Given the description of an element on the screen output the (x, y) to click on. 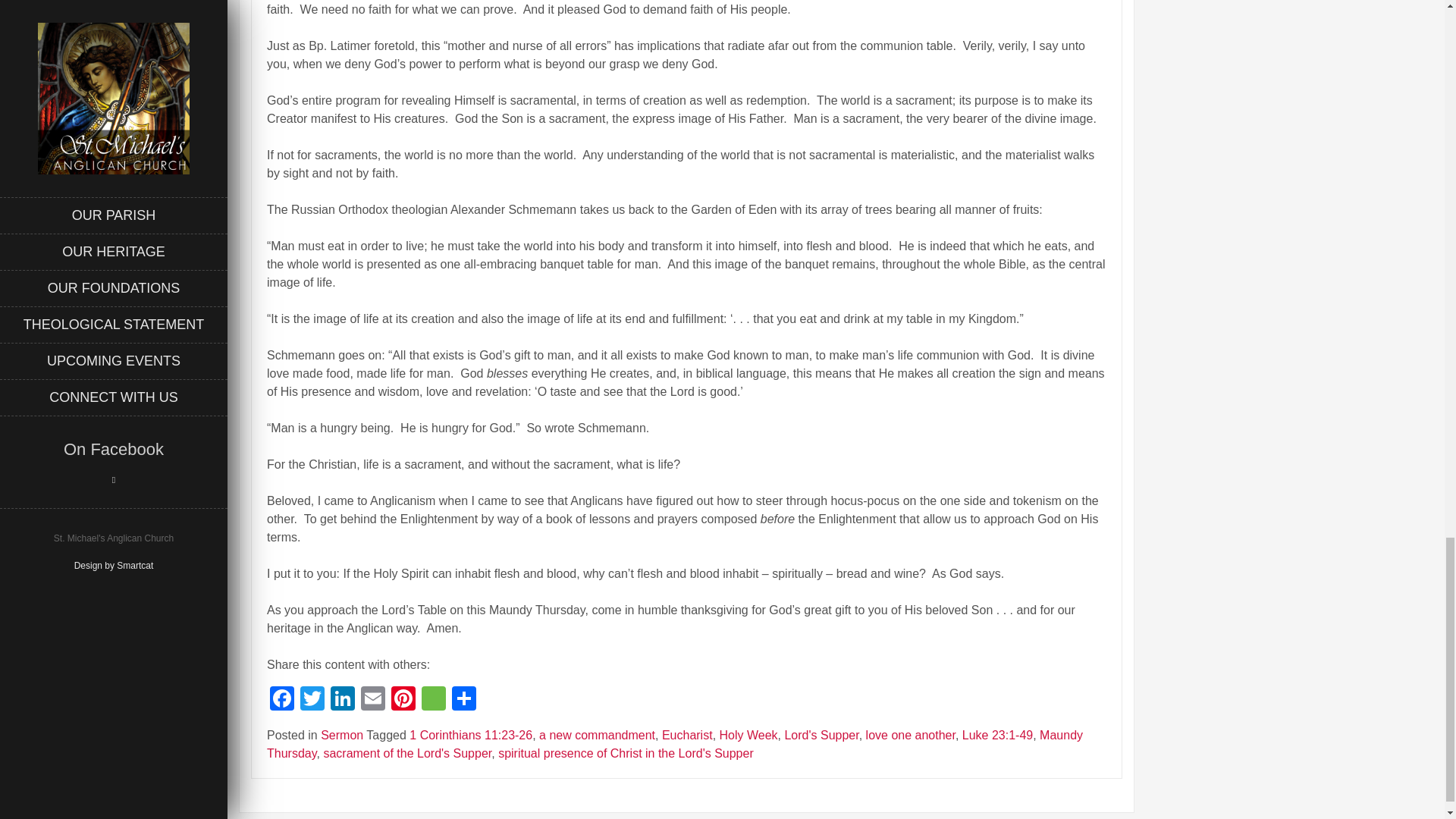
spiritual presence of Christ in the Lord's Supper (625, 753)
LinkedIn (342, 700)
Share (463, 700)
Lord's Supper (821, 735)
Sermon (341, 735)
love one another (910, 735)
Eucharist (687, 735)
Twitter (312, 700)
1 Corinthians 11:23-26 (470, 735)
LinkedIn (342, 700)
